Given the description of an element on the screen output the (x, y) to click on. 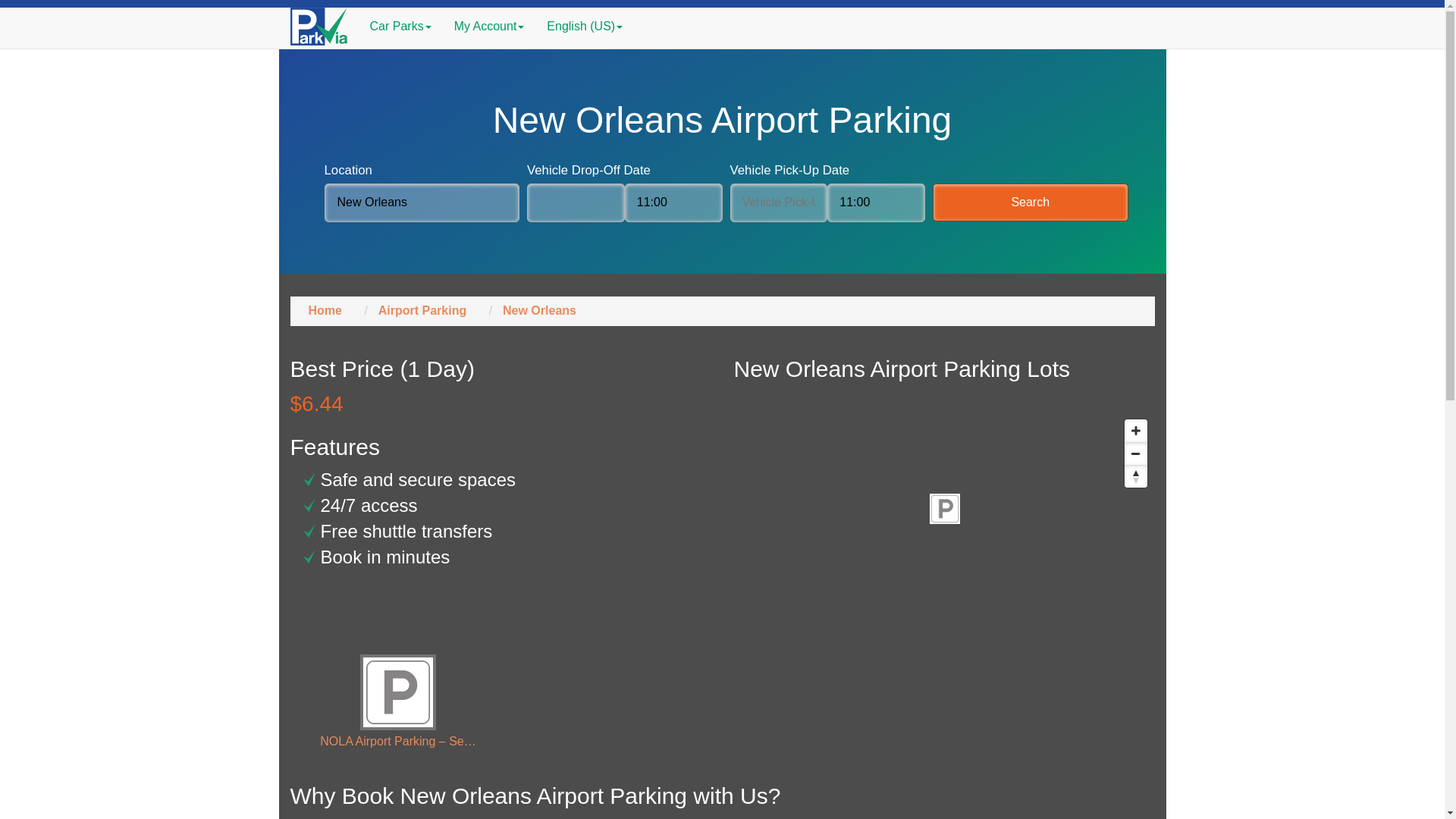
Car Parks (400, 26)
11:00 (673, 202)
My Account (488, 26)
New Orleans (421, 202)
11:00 (875, 202)
